Given the description of an element on the screen output the (x, y) to click on. 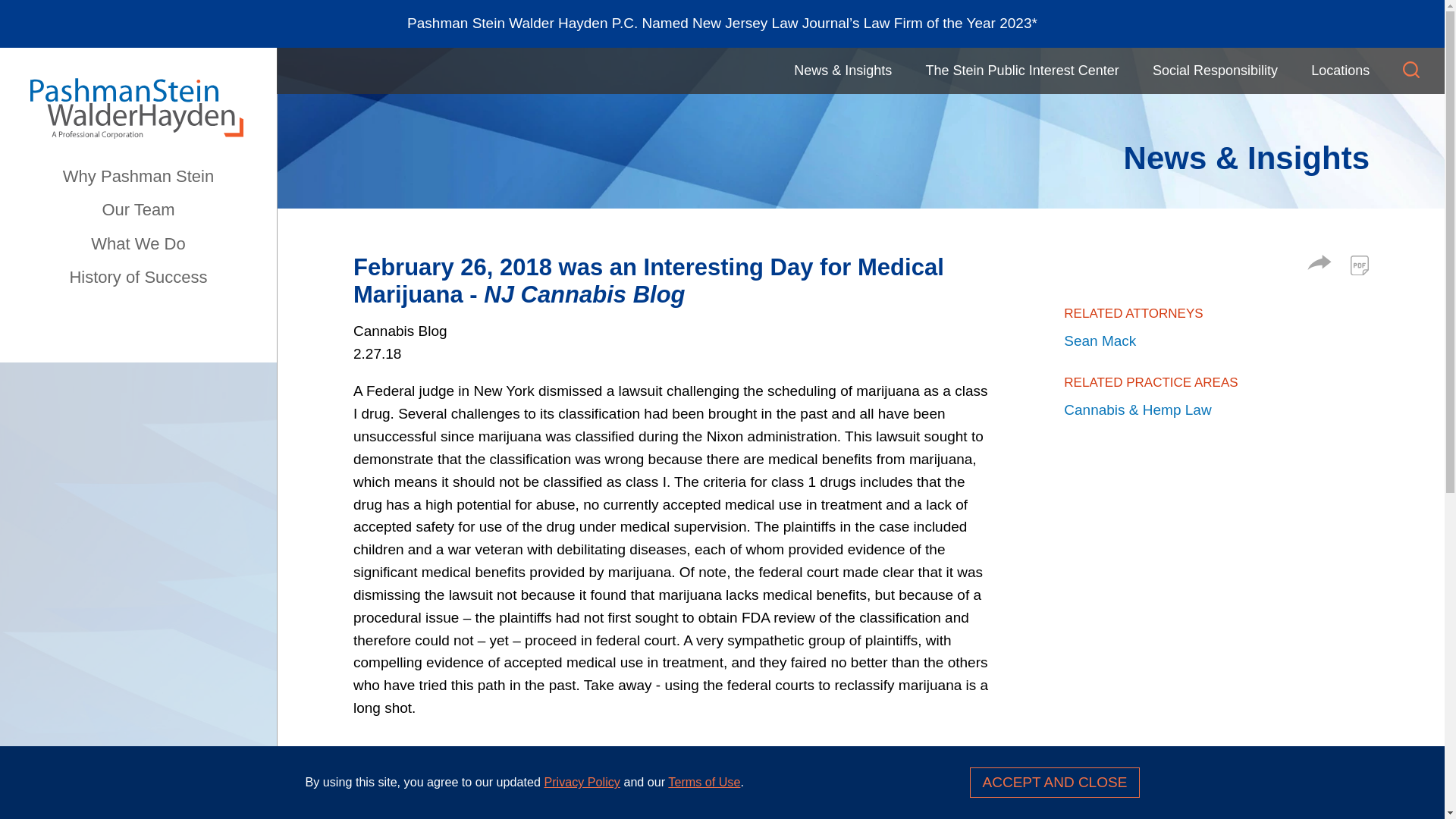
Search (1411, 69)
Locations (1340, 70)
Share (1319, 264)
The Stein Public Interest Center (1021, 70)
Main Content (667, 66)
Menu (674, 66)
Social Responsibility (1214, 70)
Print PDF (1359, 265)
Main Menu (674, 66)
Share Icon (1319, 262)
